Given the description of an element on the screen output the (x, y) to click on. 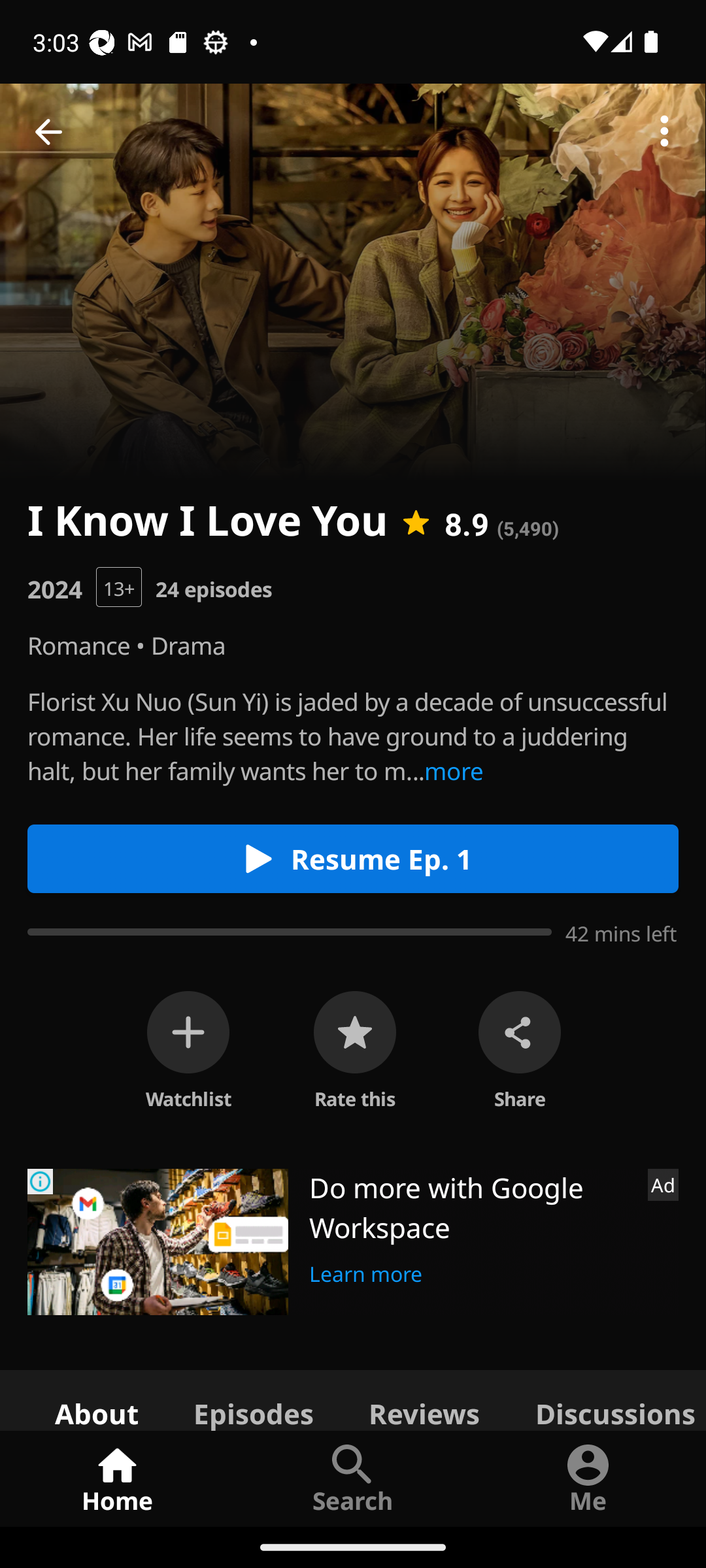
More (664, 131)
off (187, 1032)
Ad Choices Icon (39, 1181)
Do more with Google Workspace (471, 1207)
Learn more (365, 1271)
Episodes (252, 1400)
Reviews (423, 1400)
Discussions (606, 1400)
Search (352, 1478)
Me (588, 1478)
